Given the description of an element on the screen output the (x, y) to click on. 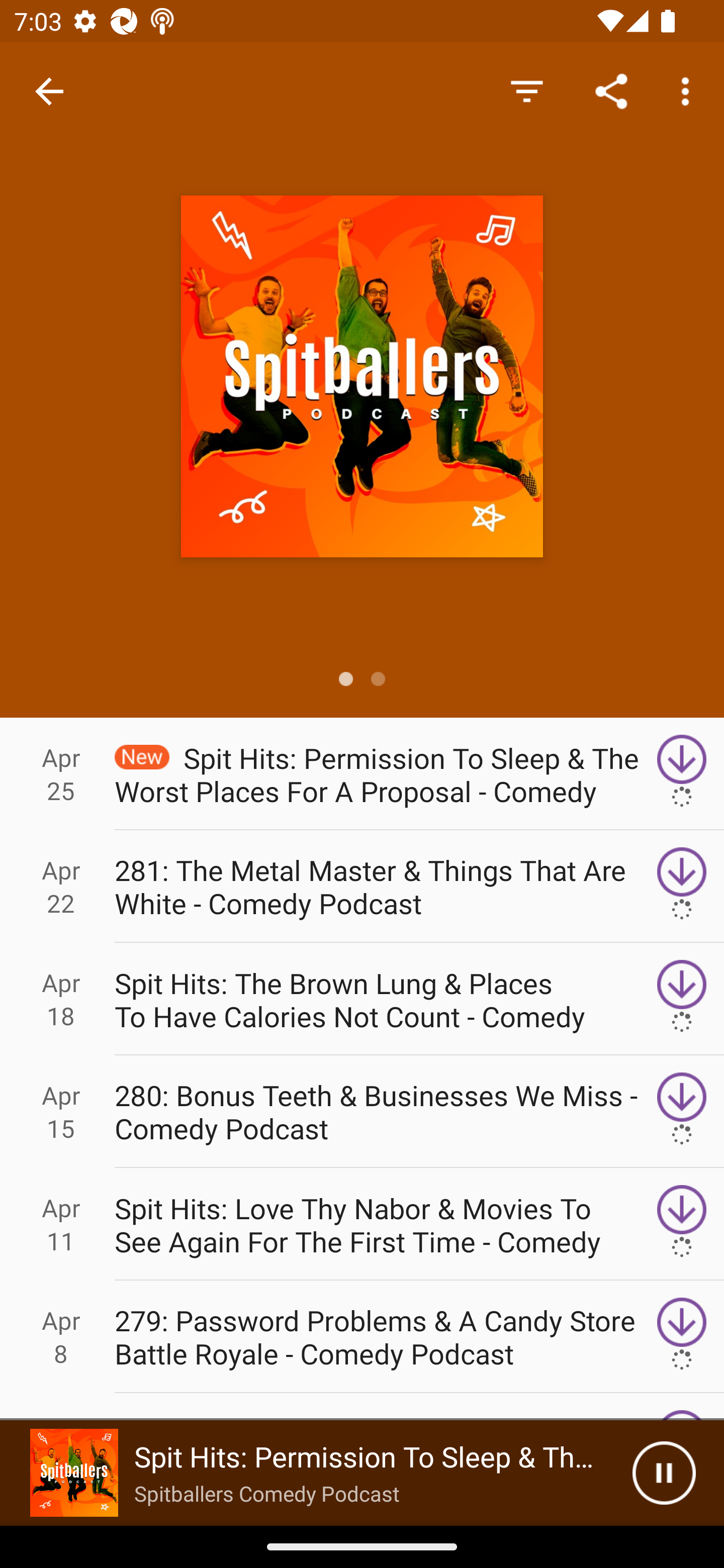
Navigate up (49, 91)
Hide Episodes (526, 90)
Share Link (611, 90)
More options (688, 90)
Download  (681, 773)
Download  (681, 885)
Download  (681, 998)
Download  (681, 1111)
Download  (681, 1224)
Download  (681, 1336)
Pause (663, 1472)
